Given the description of an element on the screen output the (x, y) to click on. 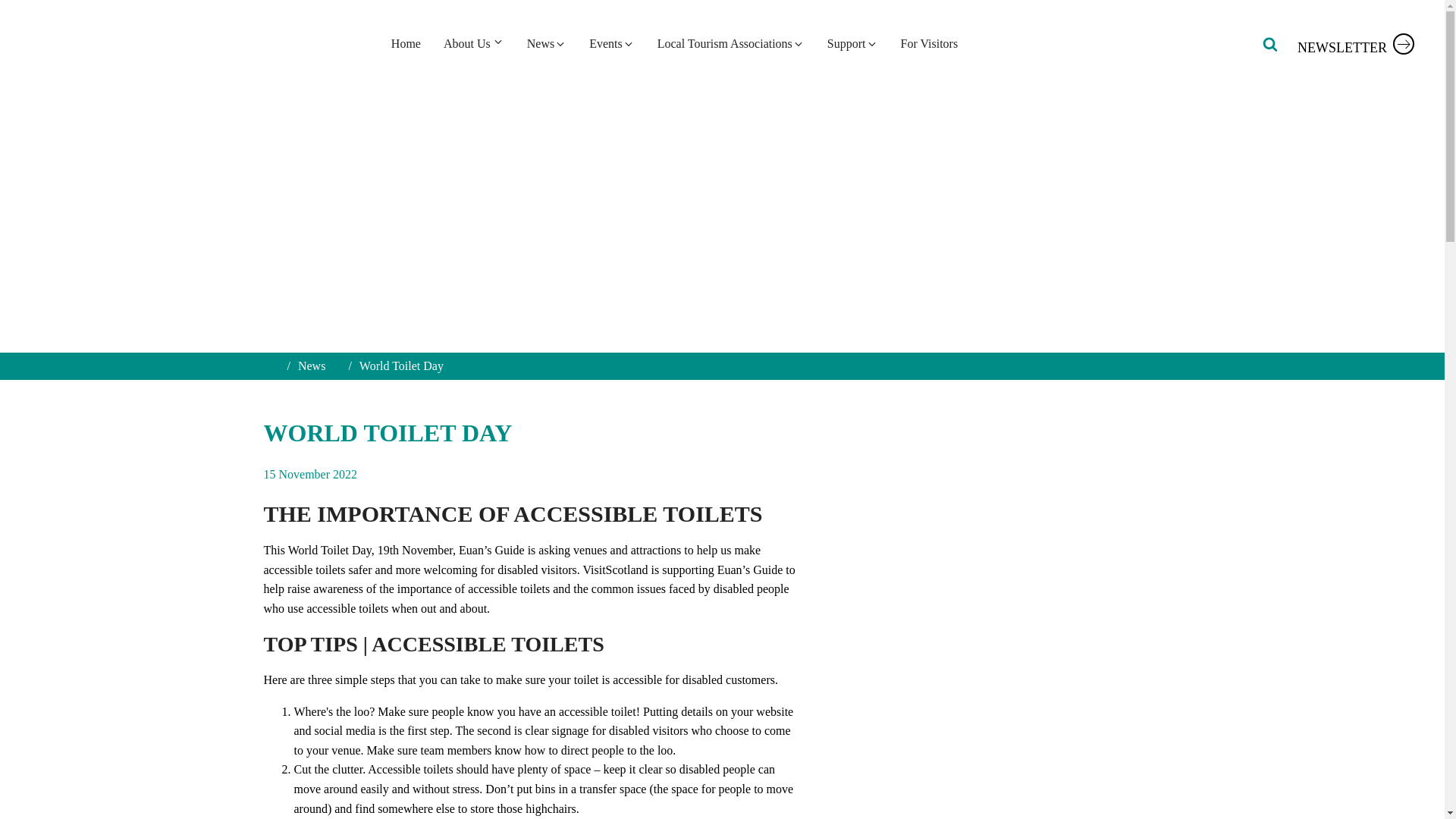
News (546, 43)
About Us (473, 43)
Local Tourism Associations (730, 43)
Home (406, 43)
Events (612, 43)
